Given the description of an element on the screen output the (x, y) to click on. 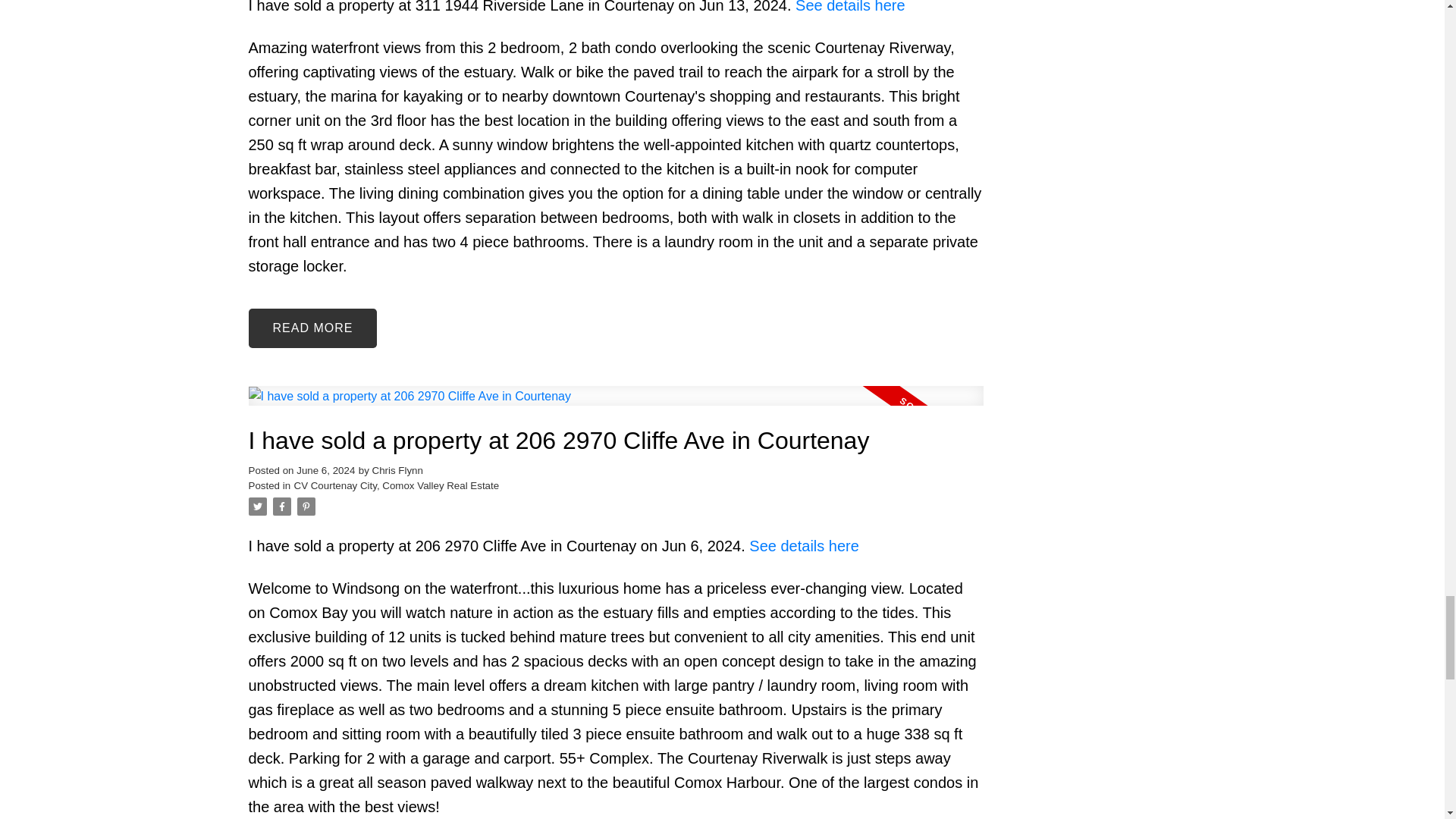
Read full post (616, 405)
